Given the description of an element on the screen output the (x, y) to click on. 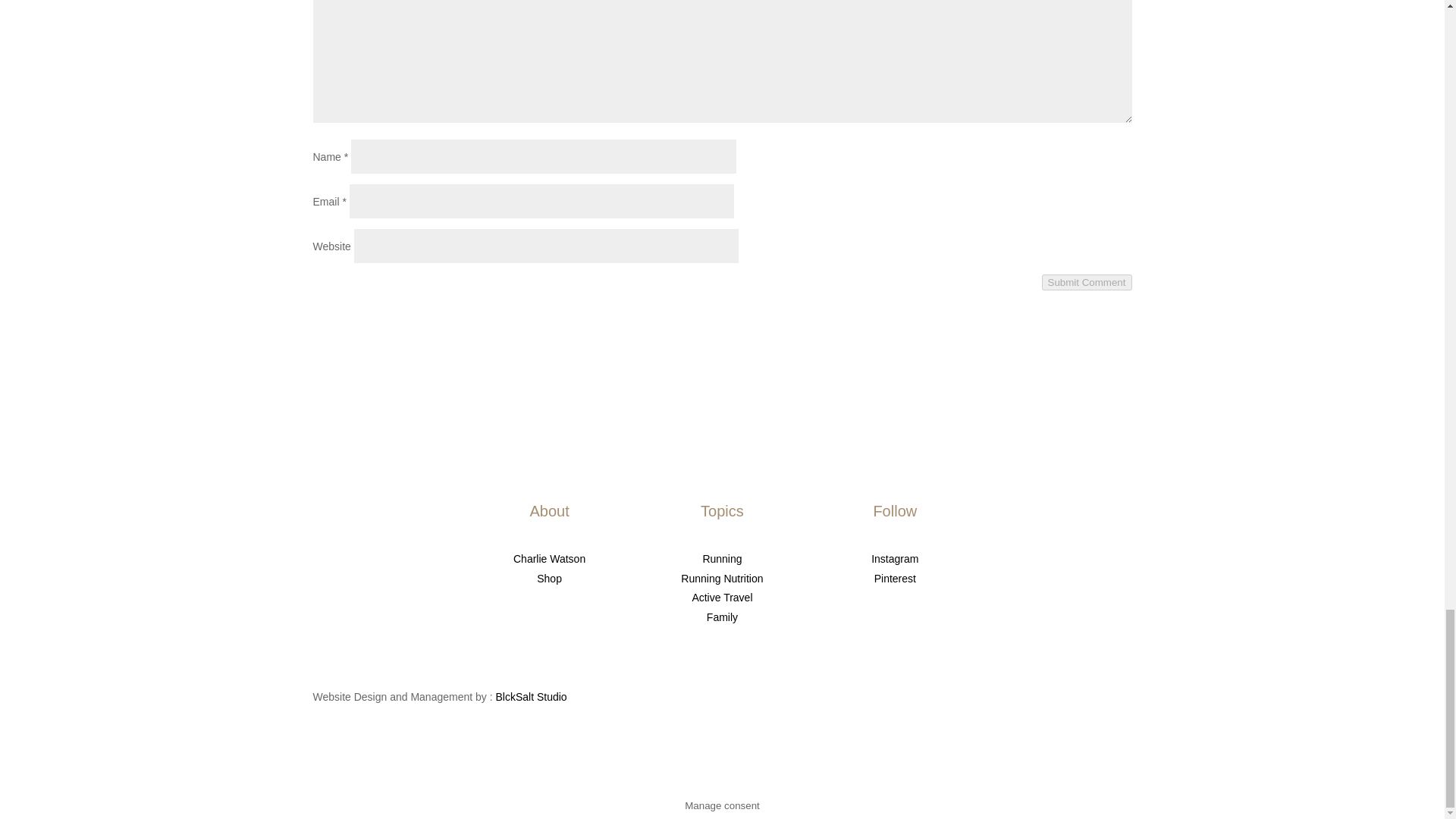
BlckSalt Studio (531, 696)
Running (721, 558)
Pinterest (895, 578)
Running Nutrition (721, 578)
Charlie Watson (549, 558)
Submit Comment (1087, 282)
Family (722, 616)
Shop (549, 578)
Instagram (894, 558)
Active Travel (721, 597)
